Given the description of an element on the screen output the (x, y) to click on. 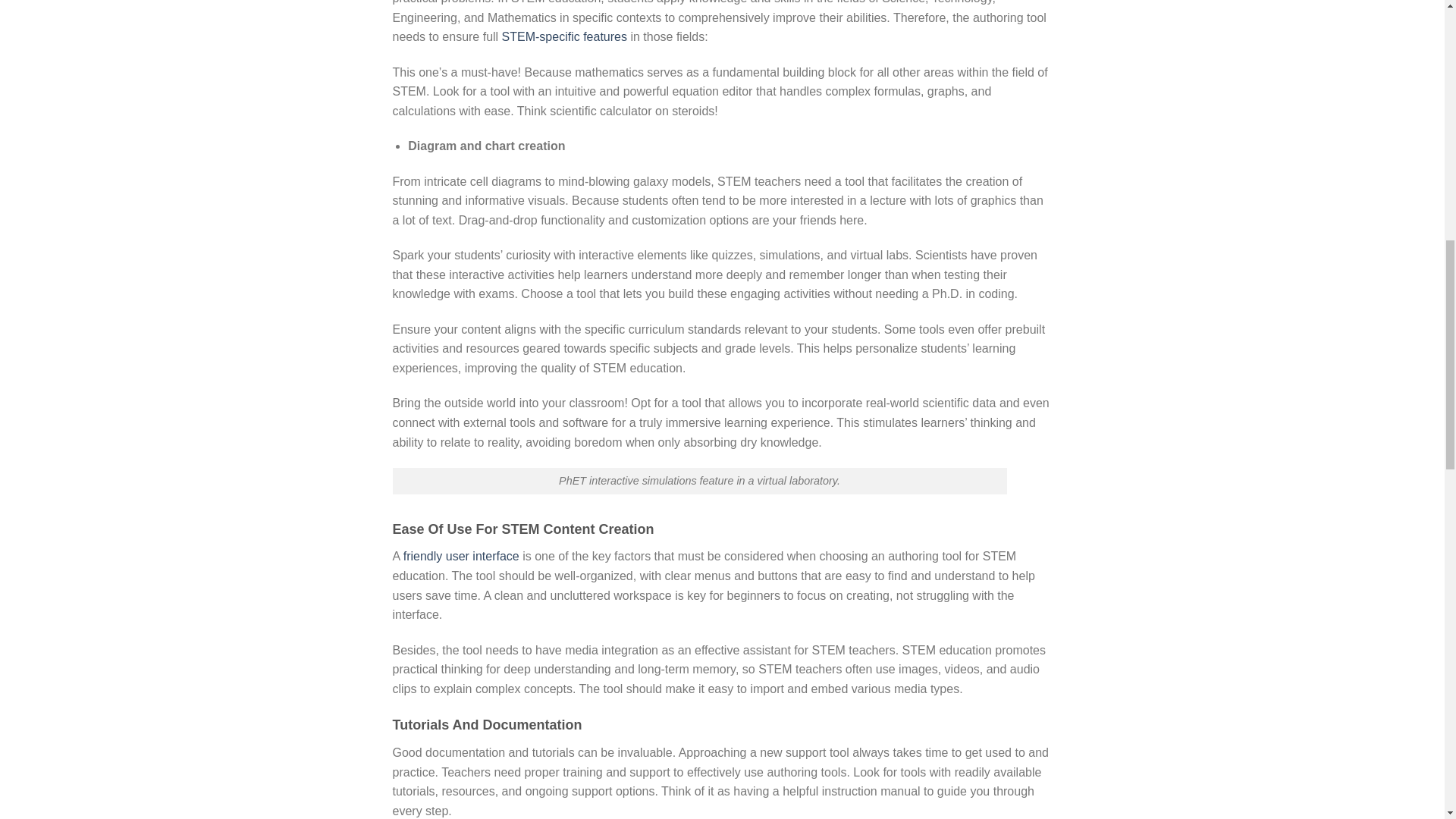
Avina STEM Features (564, 36)
friendly user interface (461, 555)
Avina conquers users with a friendly interface (461, 555)
STEM-specific features (564, 36)
